Given the description of an element on the screen output the (x, y) to click on. 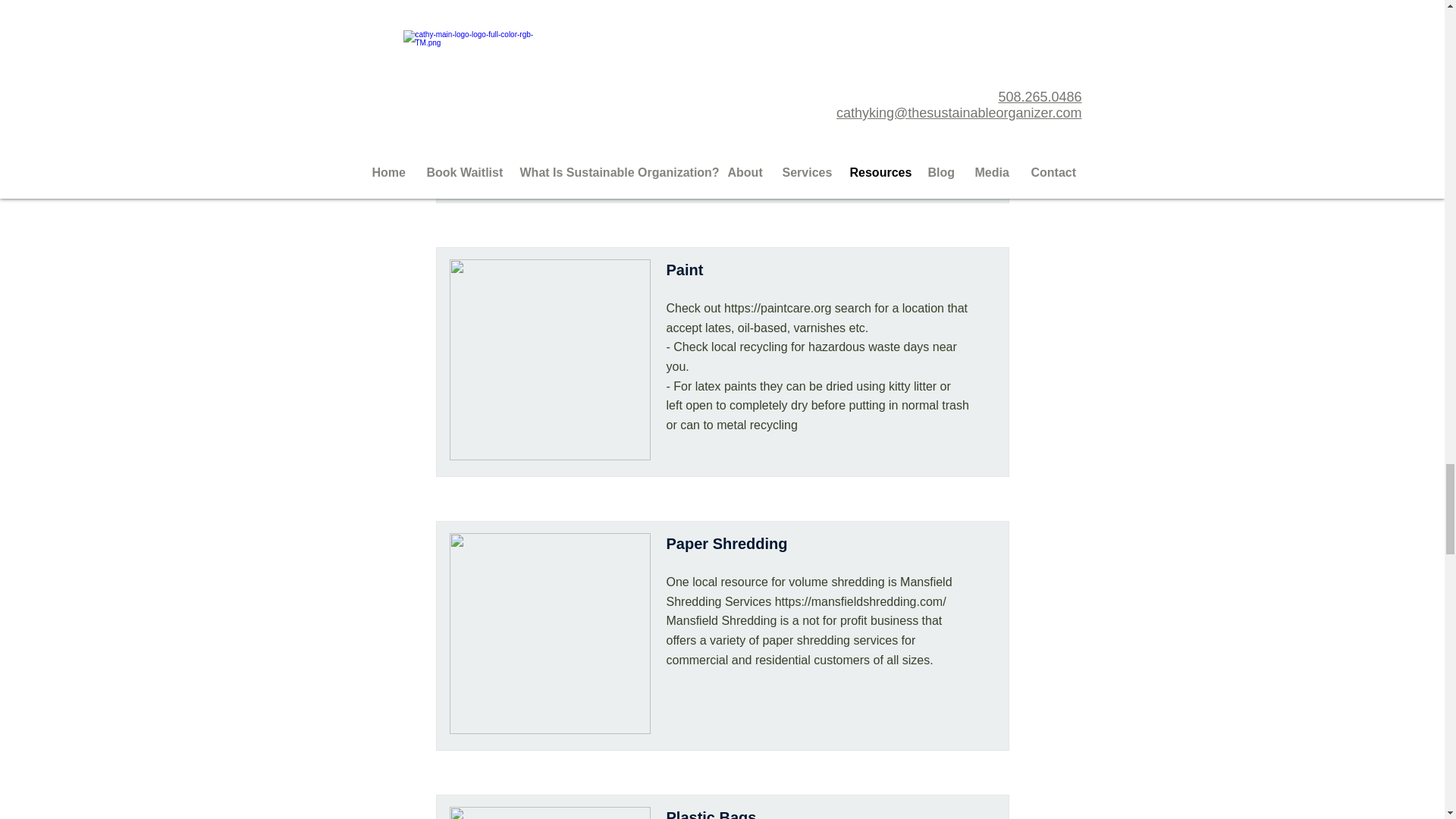
Image by Gabriella Clare Marino.jpg (548, 359)
plastic bags.jpg (548, 812)
mattresses.png (548, 32)
